Given the description of an element on the screen output the (x, y) to click on. 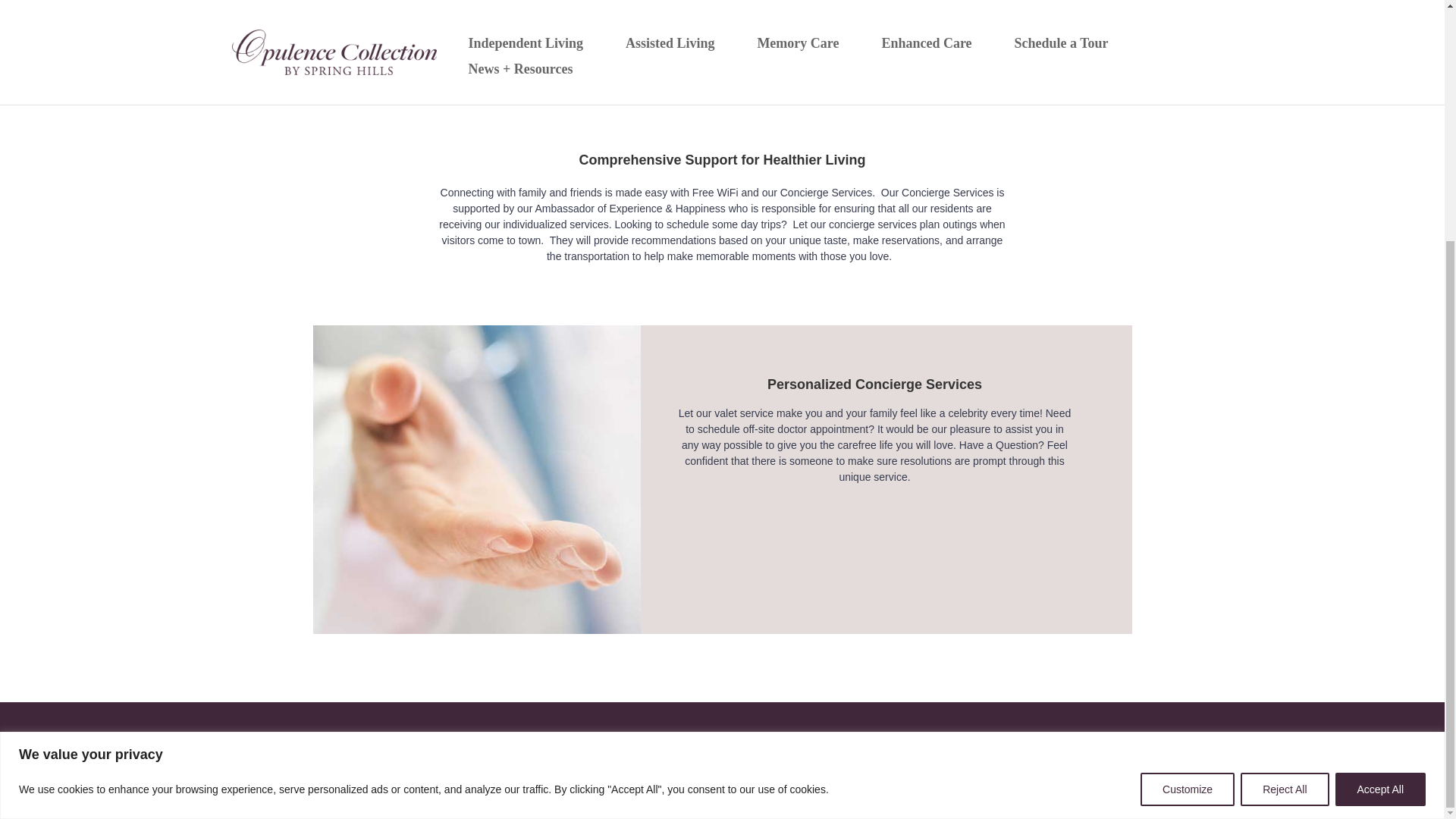
Assisted Living (501, 739)
Personalized Concierge Services (476, 479)
Customize (1187, 455)
Memory Care (619, 739)
Independent Living (372, 739)
Accept All (1380, 455)
Schedule a Tour (737, 739)
Browse Our Locations (873, 739)
Privacy Policy (1098, 793)
Reject All (1283, 455)
Make Your Passion a Career (1035, 739)
